Given the description of an element on the screen output the (x, y) to click on. 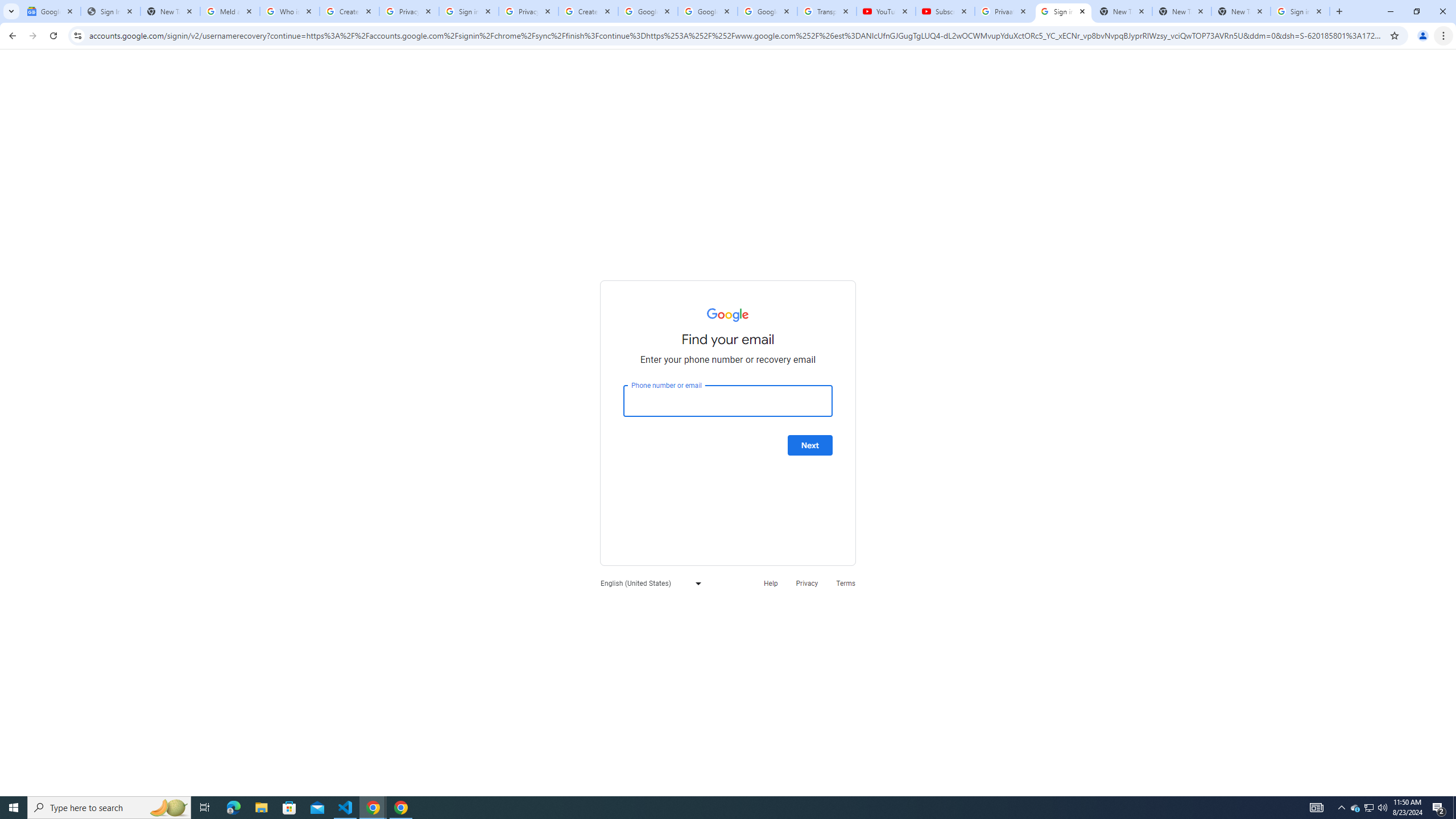
Bookmark this tab (1393, 35)
Create your Google Account (349, 11)
Who is my administrator? - Google Account Help (289, 11)
Google News (50, 11)
Sign In - USA TODAY (110, 11)
Terms (845, 583)
Chrome (1445, 35)
Search tabs (10, 11)
Privacy (806, 583)
Phone number or email (727, 401)
New Tab (1241, 11)
Subscriptions - YouTube (944, 11)
View site information (77, 35)
